Given the description of an element on the screen output the (x, y) to click on. 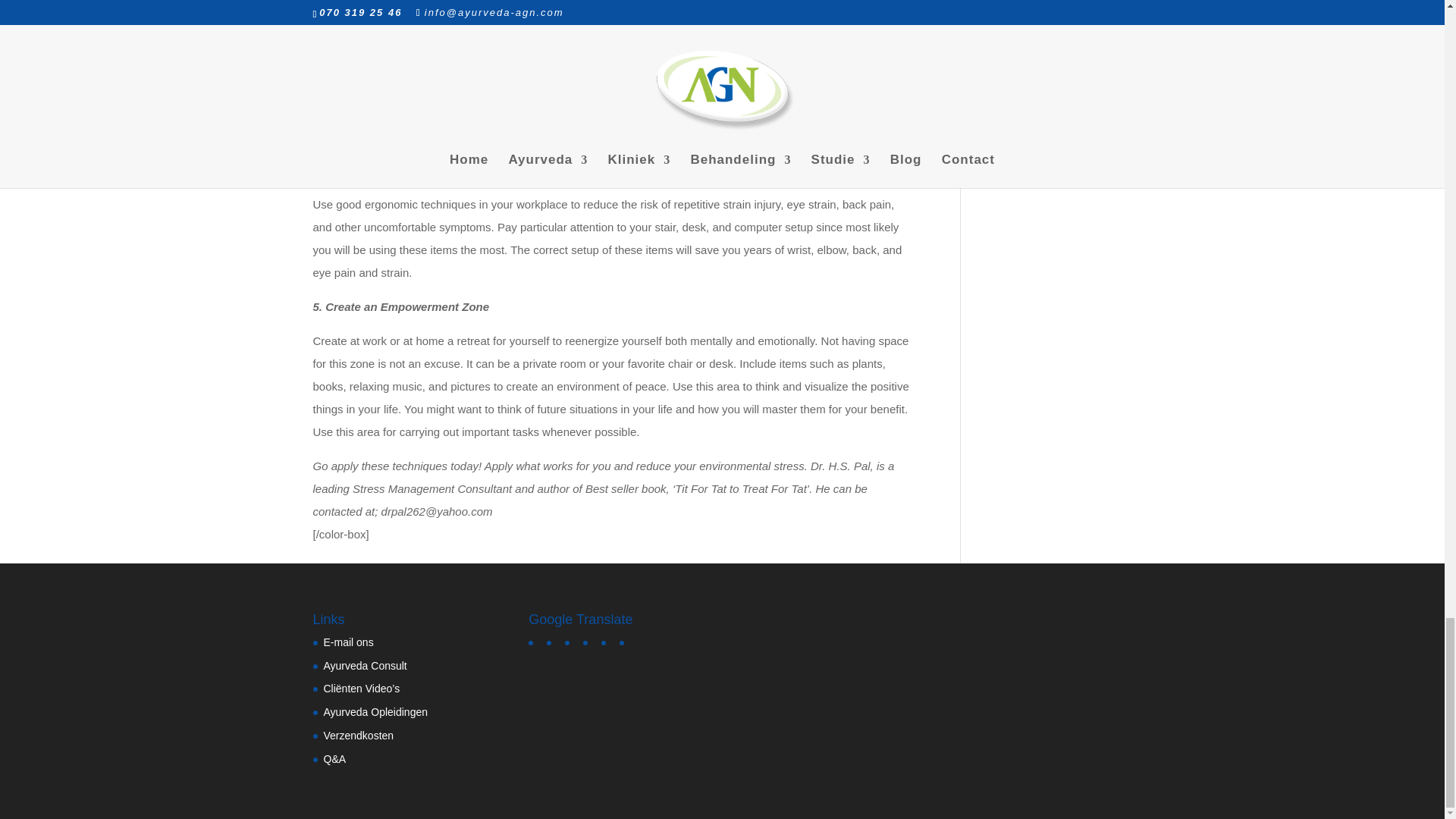
Spanish (591, 639)
English (536, 639)
French (572, 639)
Dutch (609, 639)
Portuguese (628, 639)
German (555, 639)
